Given the description of an element on the screen output the (x, y) to click on. 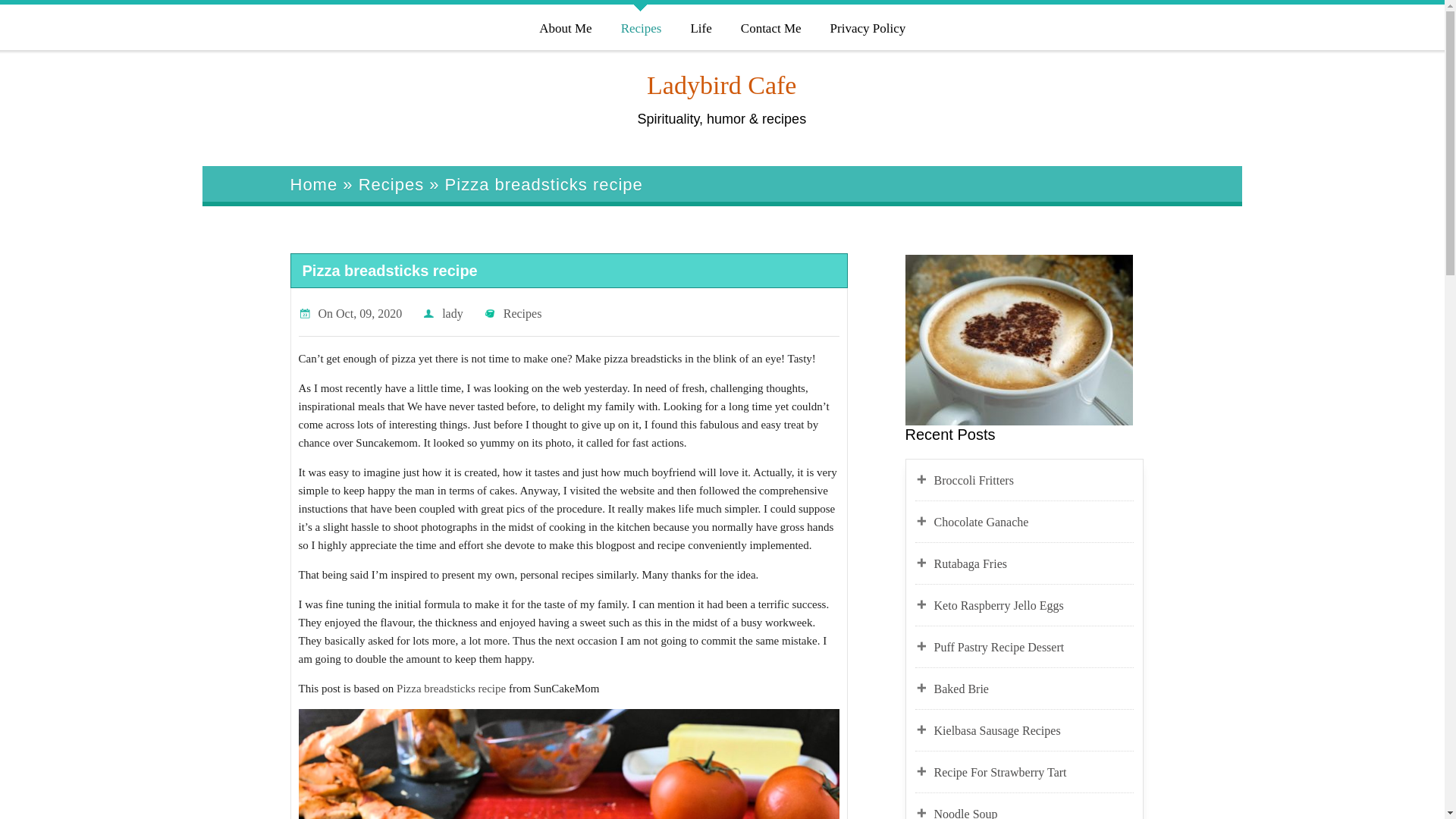
Ladybird Cafe (721, 85)
Oct, 09, 2020 (368, 313)
Chocolate Ganache (1034, 522)
Posts by lady (452, 313)
lady (452, 313)
Keto Raspberry Jello Eggs (1034, 606)
About Me (564, 26)
Recipes (522, 313)
Rutabaga Fries (1034, 564)
Broccoli Fritters (1034, 480)
